Given the description of an element on the screen output the (x, y) to click on. 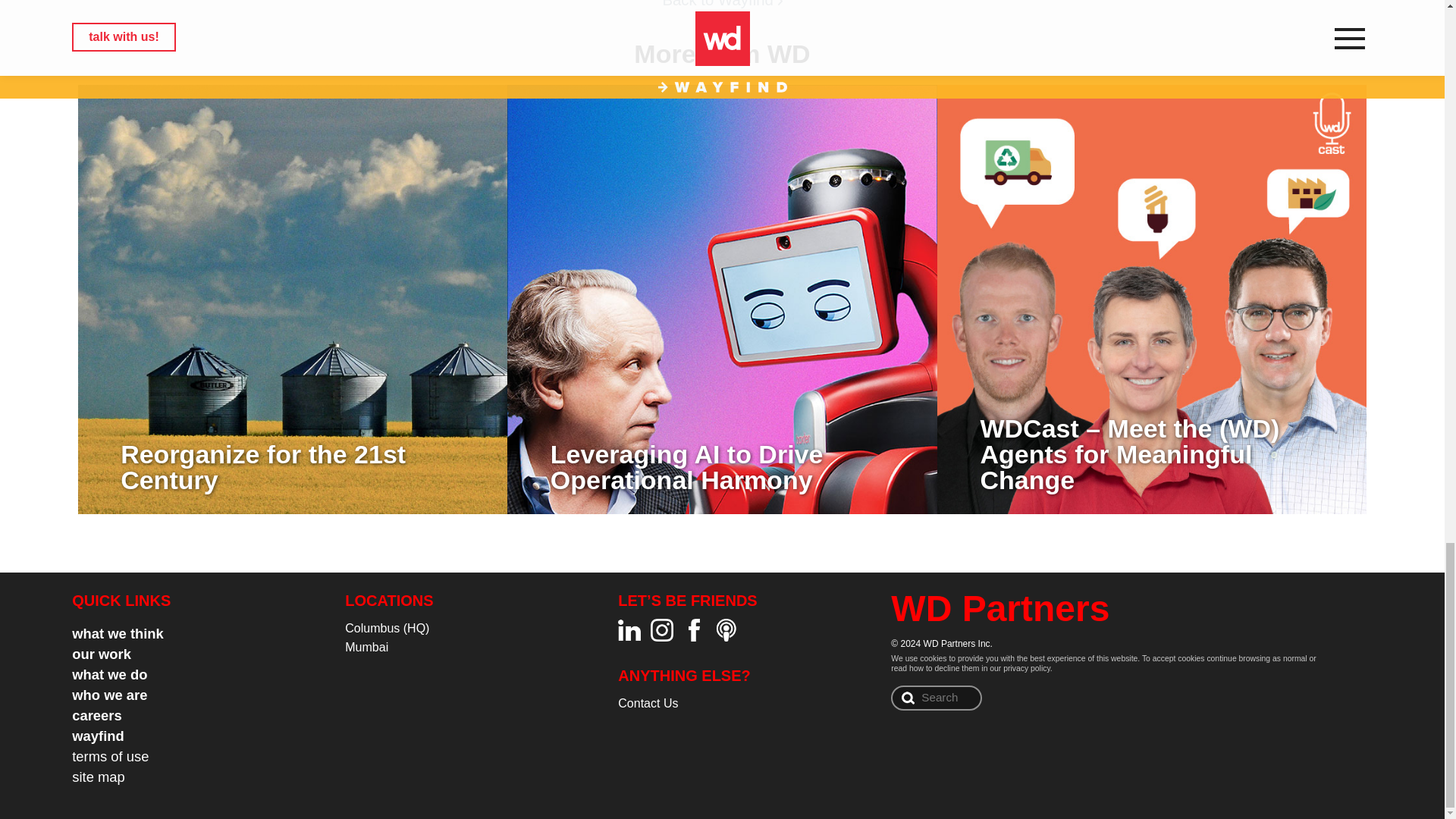
WD Partners in Columbus, Ohio (387, 627)
what we think (117, 633)
who we are (109, 694)
our work (101, 653)
terms of use (109, 756)
careers (95, 715)
Back to Wayfind (721, 4)
WD Partners in Mumbai, India (366, 646)
site map (98, 776)
what we do (109, 674)
wayfind (97, 735)
